Given the description of an element on the screen output the (x, y) to click on. 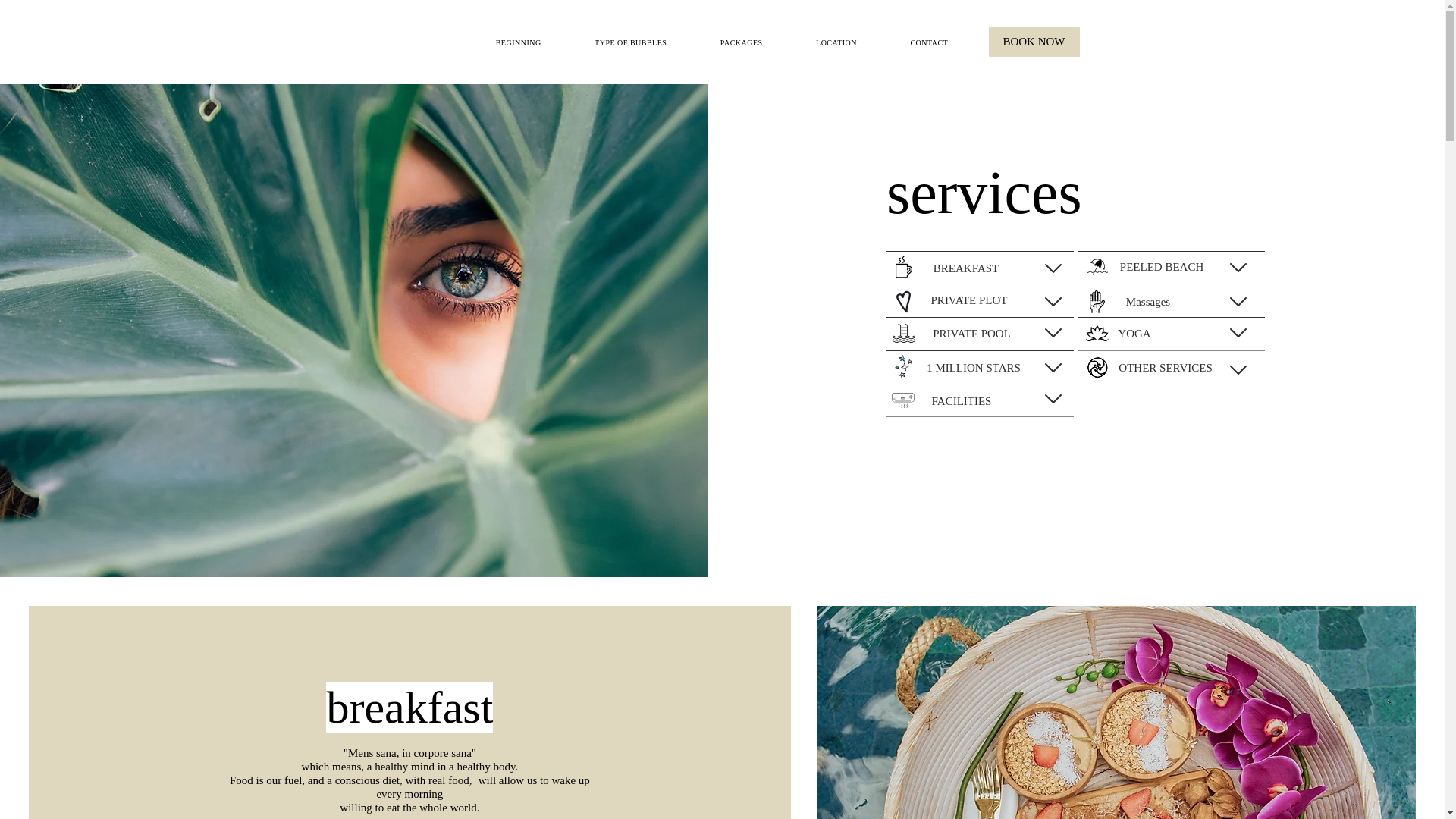
PRIVATE POOL (971, 333)
CONTACT (928, 42)
BEGINNING (517, 42)
PRIVATE PLOT (968, 300)
BOOK NOW (1034, 41)
PACKAGES (741, 42)
1 MILLION STARS (972, 367)
BREAKFAST (965, 268)
LOCATION (836, 42)
TYPE OF BUBBLES (630, 42)
